Given the description of an element on the screen output the (x, y) to click on. 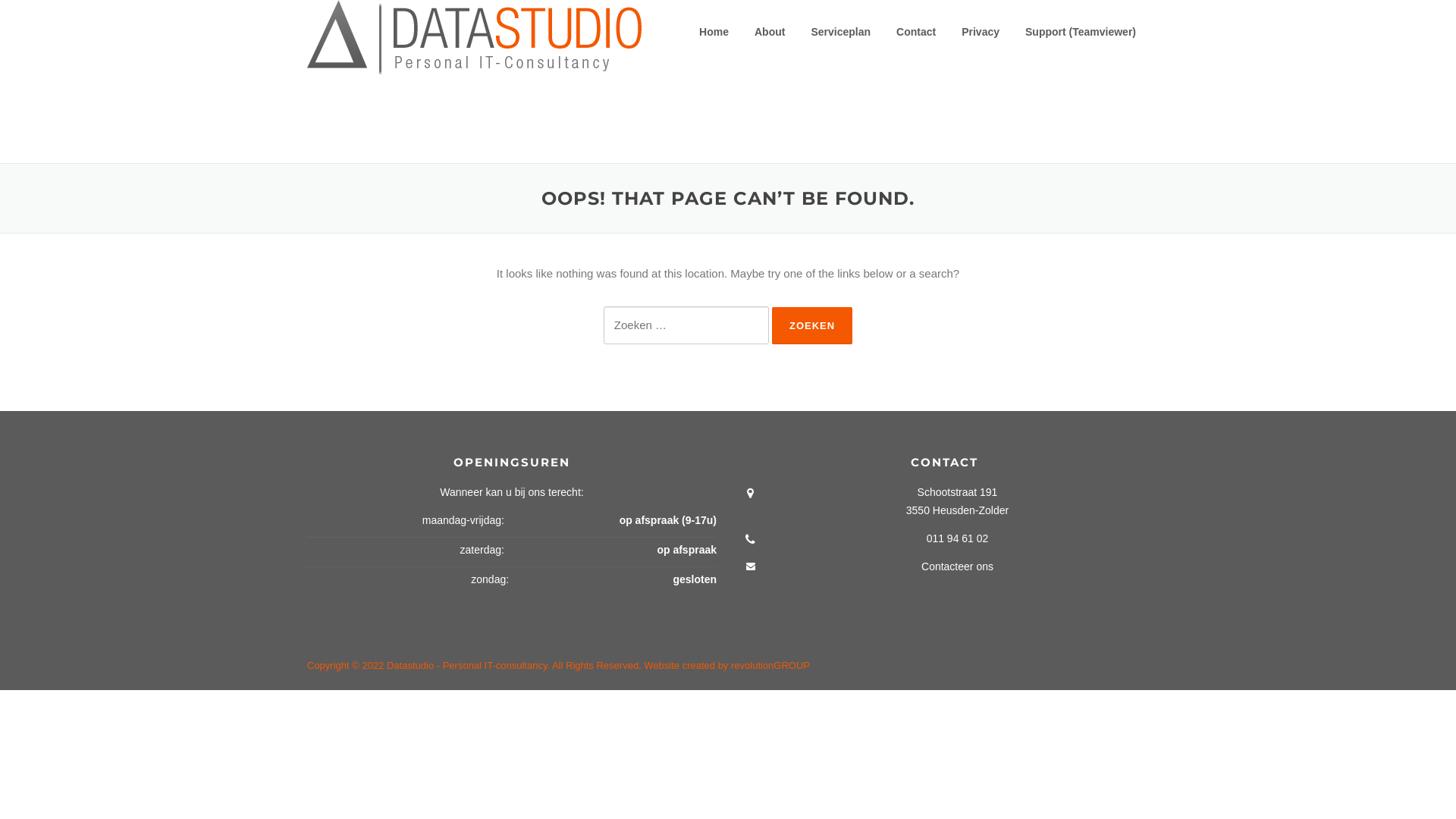
Support (Teamviewer) Element type: text (1080, 32)
Home Element type: text (713, 32)
Contact Element type: text (915, 32)
Serviceplan Element type: text (840, 32)
About Element type: text (769, 32)
011 94 61 02 Element type: text (957, 538)
Contacteer ons Element type: text (957, 566)
revolutionGROUP Element type: text (770, 665)
Privacy Element type: text (980, 32)
Zoeken Element type: text (811, 325)
